Given the description of an element on the screen output the (x, y) to click on. 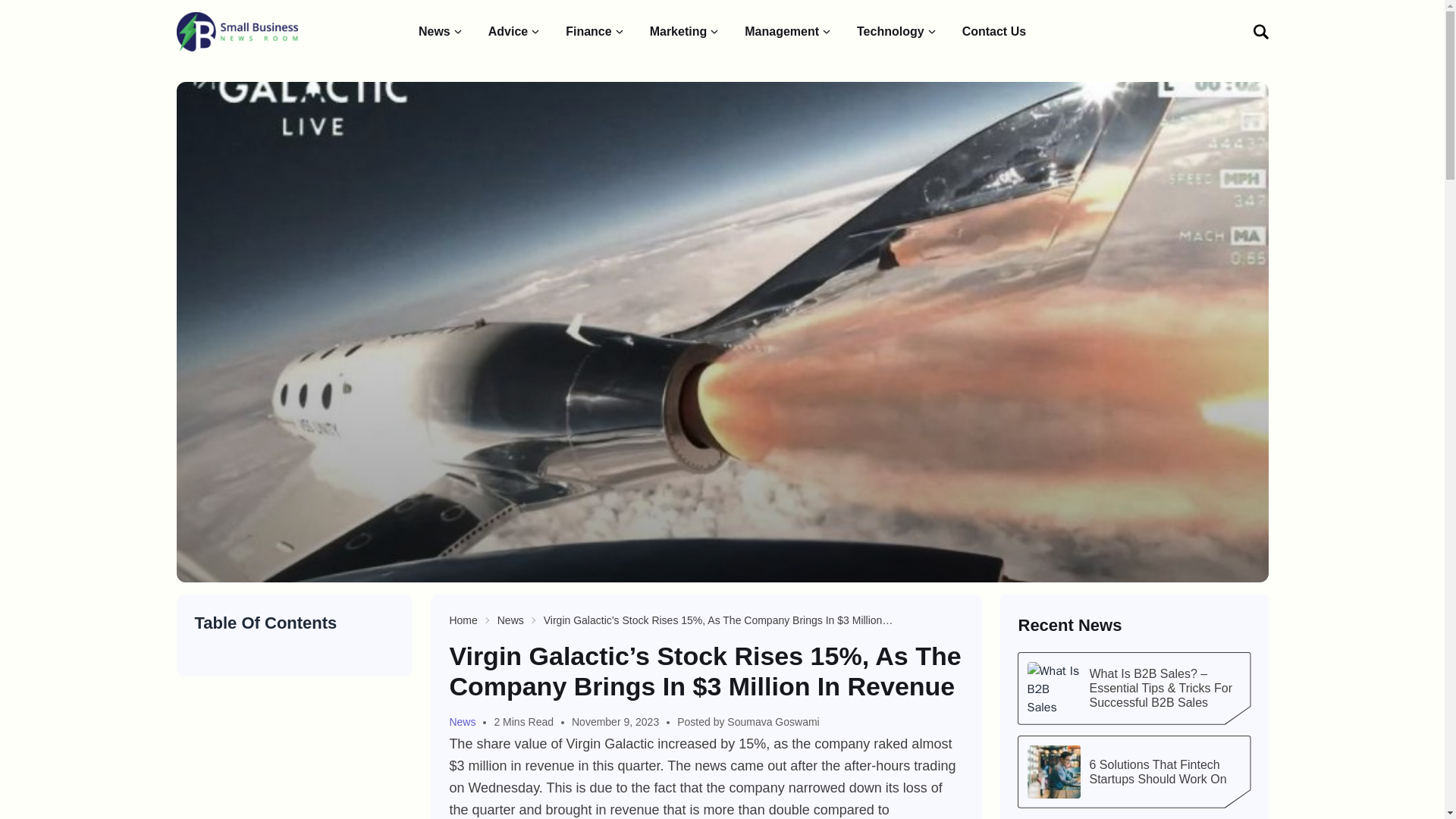
Finance (595, 31)
News (441, 31)
News (467, 722)
Technology (897, 31)
News (510, 620)
Management (788, 31)
Subscribe (1195, 227)
Advice (514, 31)
Contact Us (994, 31)
Marketing (684, 31)
